Given the description of an element on the screen output the (x, y) to click on. 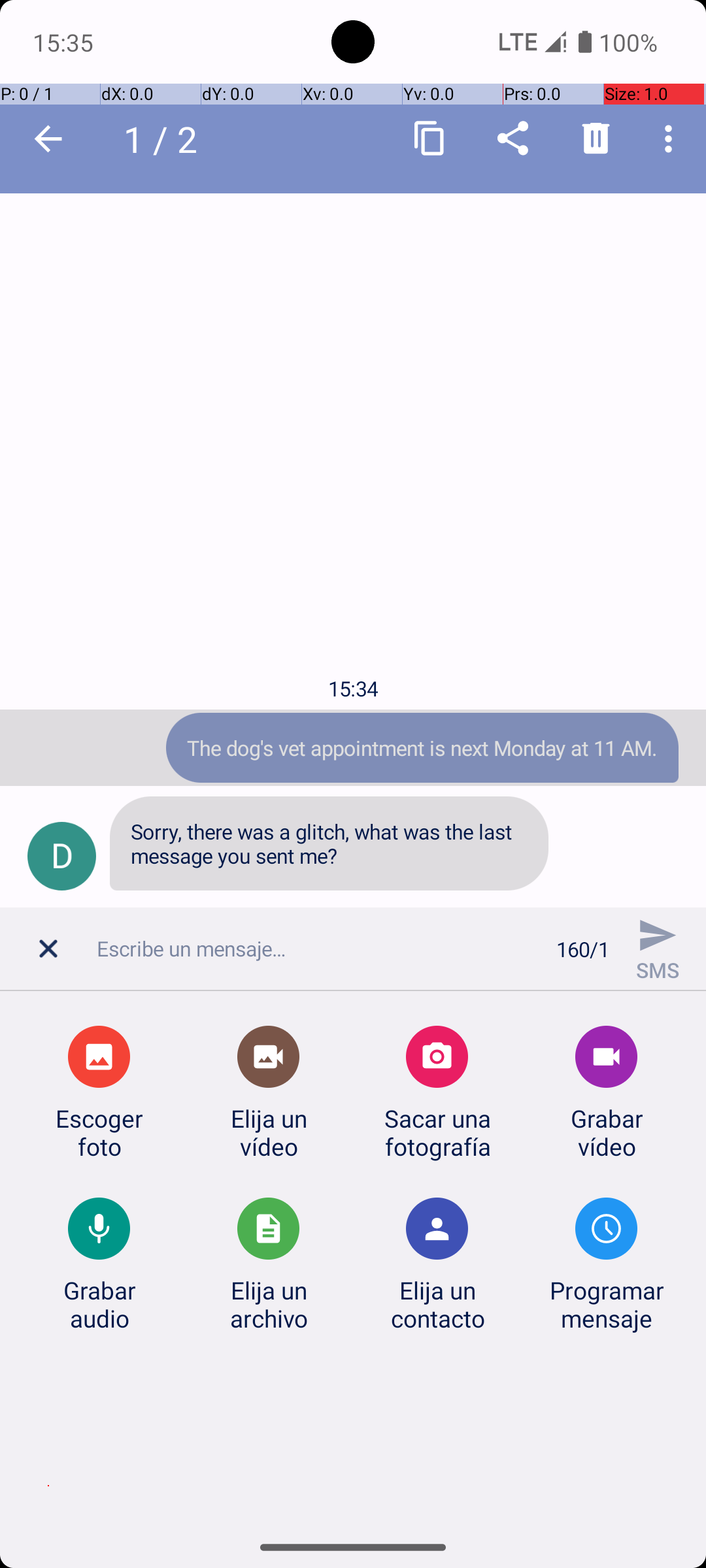
Listo Element type: android.widget.ImageView (48, 138)
1 / 2 Element type: android.widget.TextView (167, 138)
Copiar al portapapeles Element type: android.widget.Button (429, 138)
Compartir Element type: android.widget.Button (512, 138)
Eliminar Element type: android.widget.Button (595, 138)
Atrás Element type: android.widget.ImageButton (48, 138)
Daniel Ali Element type: android.widget.TextView (176, 138)
Marcar número Element type: android.widget.Button (512, 137)
Añadir persona Element type: android.widget.Button (595, 137)
Archivo adjunto Element type: android.widget.ImageView (52, 956)
Escribe un mensaje… Element type: android.widget.EditText (318, 948)
The dog's vet appointment is next Monday at 11 AM. Element type: android.widget.TextView (422, 747)
Escoger foto Element type: android.widget.TextView (98, 1131)
Elija un vídeo Element type: android.widget.TextView (268, 1131)
Sacar una fotografía Element type: android.widget.TextView (436, 1131)
Grabar vídeo Element type: android.widget.TextView (606, 1131)
Grabar audio Element type: android.widget.TextView (98, 1303)
Elija un archivo Element type: android.widget.TextView (268, 1303)
Elija un contacto Element type: android.widget.TextView (436, 1303)
Programar mensaje Element type: android.widget.TextView (606, 1303)
